Given the description of an element on the screen output the (x, y) to click on. 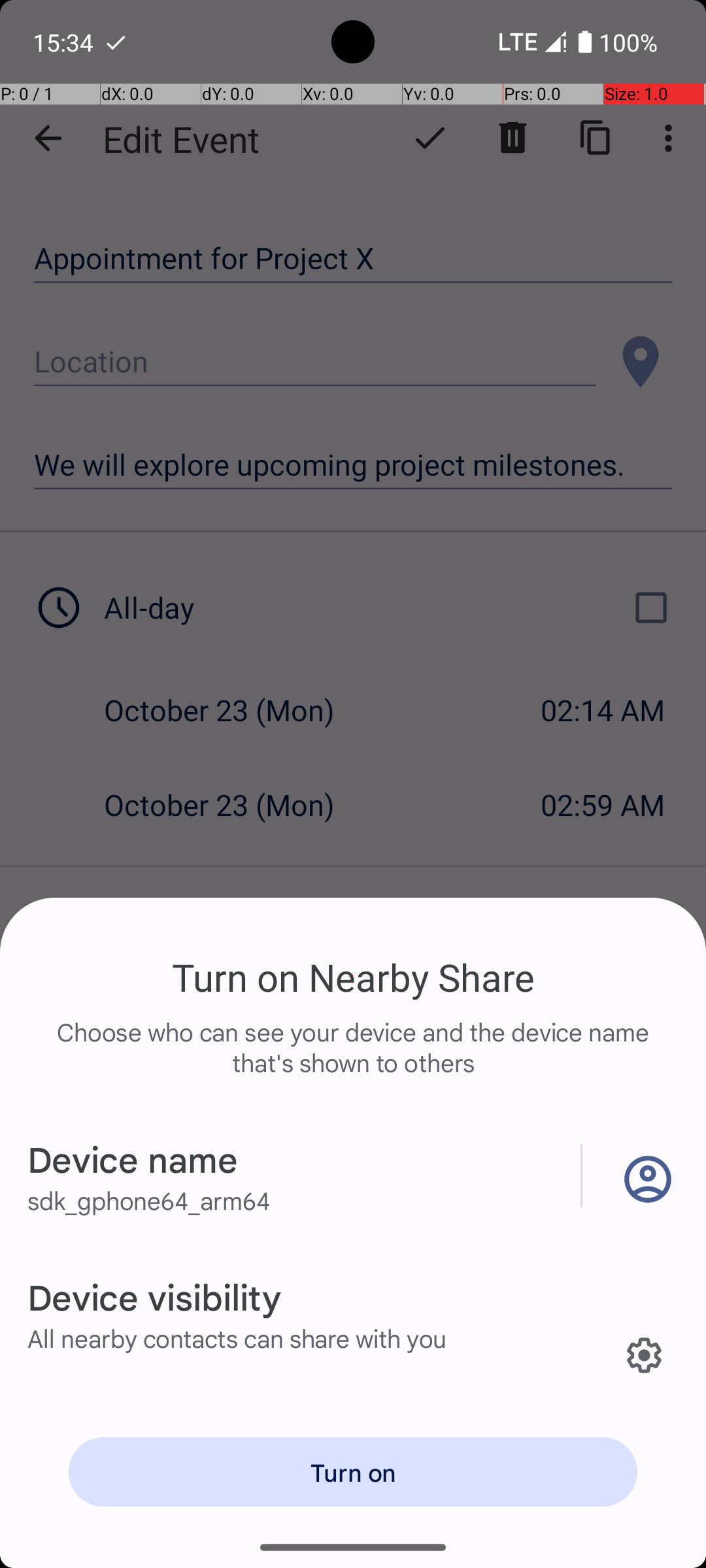
Turn on Nearby Share Element type: android.widget.TextView (353, 976)
Choose who can see your device and the device name that's shown to others Element type: android.widget.TextView (353, 1060)
No account found Element type: android.widget.FrameLayout (644, 1175)
Turn on Element type: android.widget.Button (352, 1471)
Device name Element type: android.widget.TextView (132, 1158)
Device visibility Element type: android.widget.TextView (154, 1296)
All nearby contacts can share with you Element type: android.widget.TextView (237, 1338)
